Given the description of an element on the screen output the (x, y) to click on. 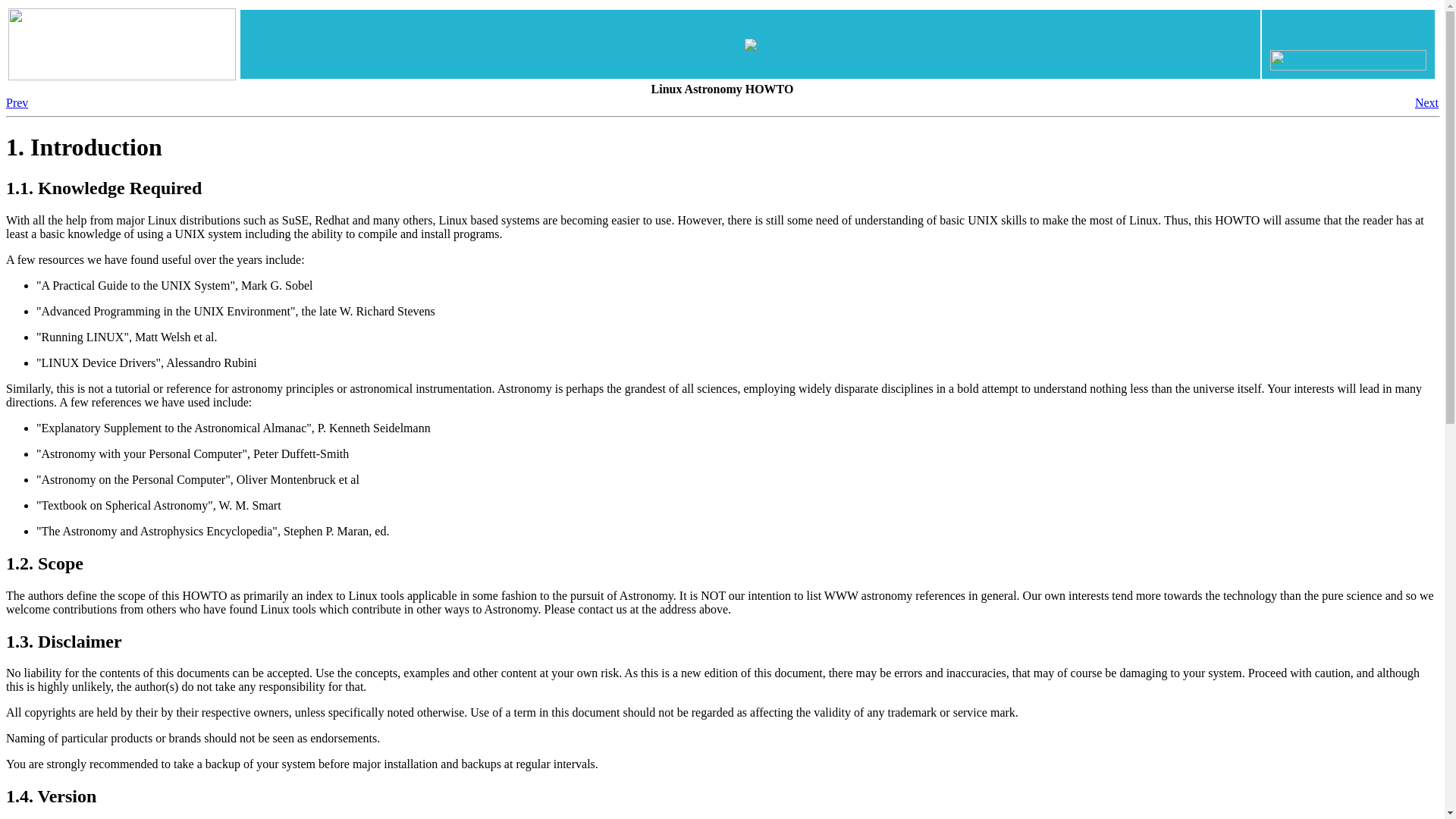
Prev (16, 102)
Next (1426, 102)
